Given the description of an element on the screen output the (x, y) to click on. 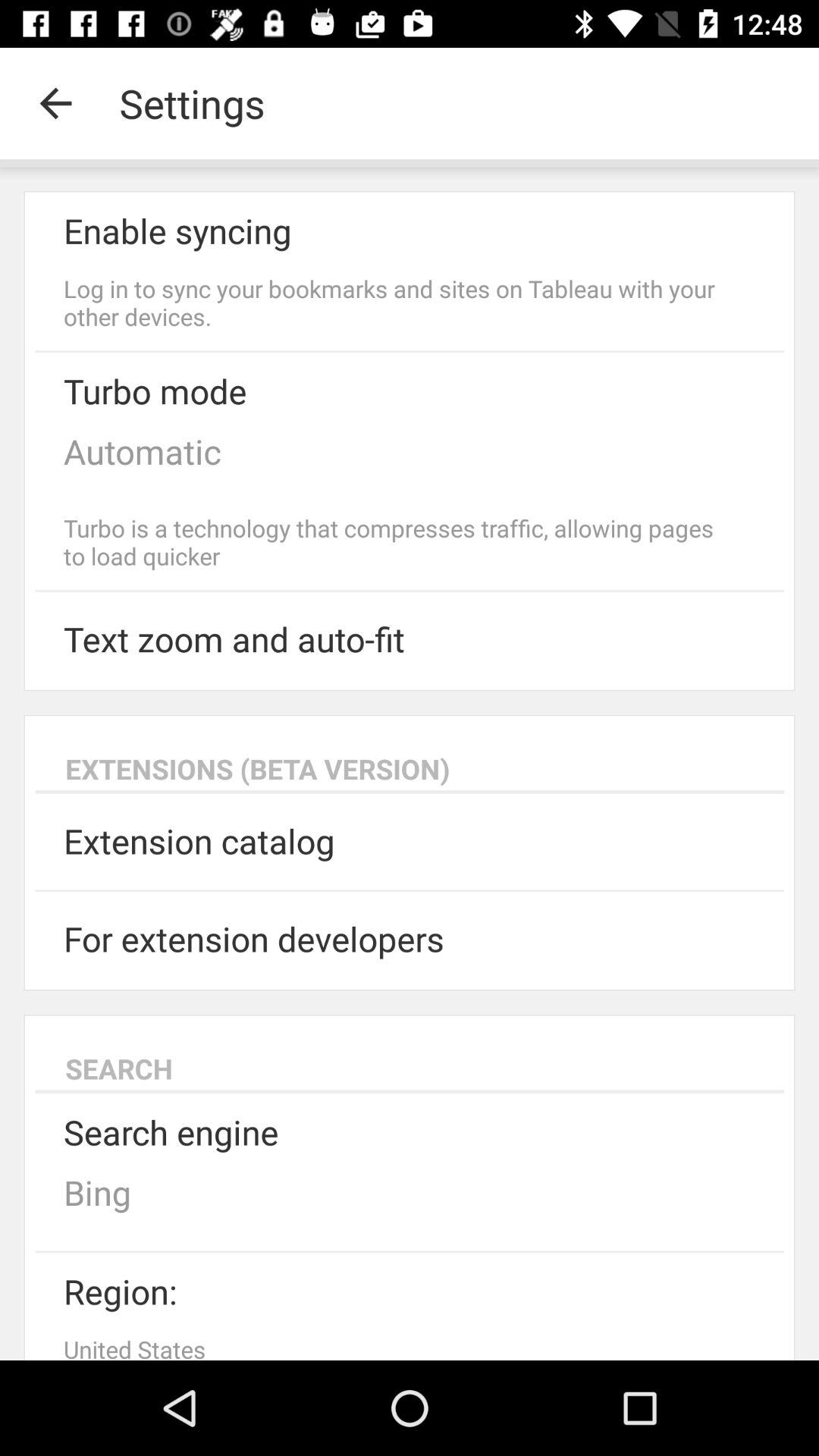
select the icon next to settings item (55, 103)
